Given the description of an element on the screen output the (x, y) to click on. 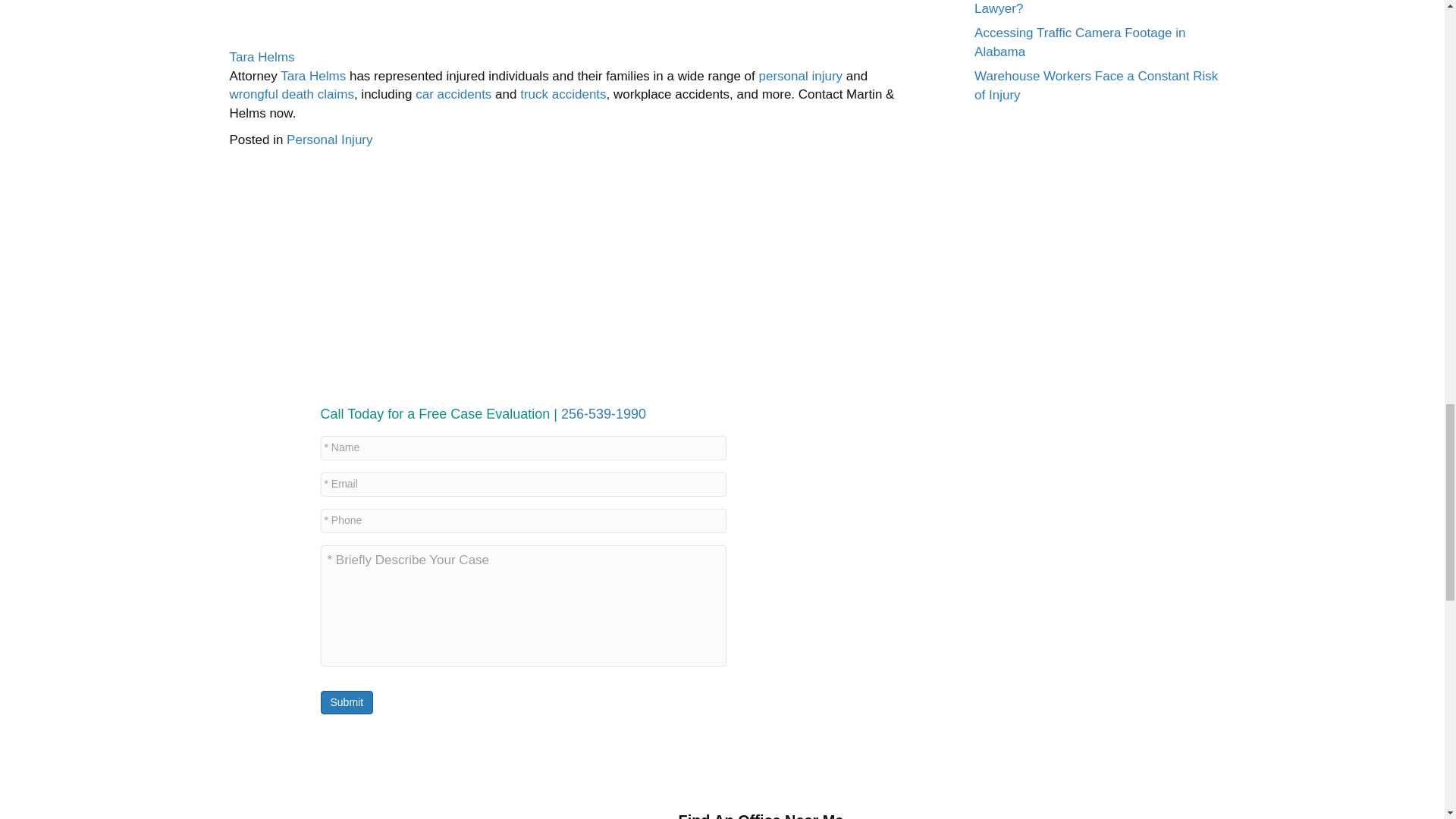
Submit (346, 702)
martin-helms-logo (483, 806)
